Given the description of an element on the screen output the (x, y) to click on. 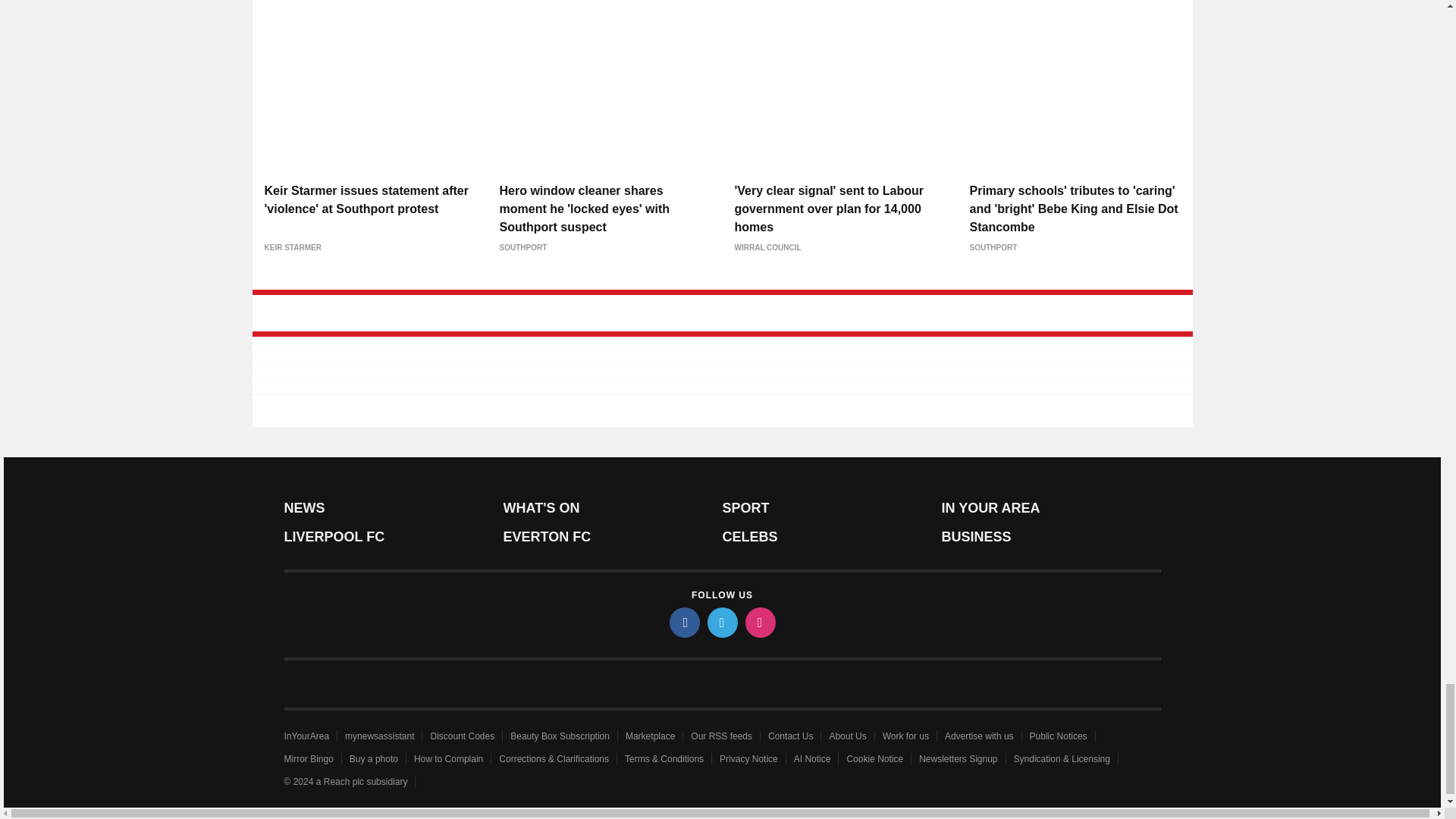
twitter (721, 622)
facebook (683, 622)
instagram (759, 622)
